Given the description of an element on the screen output the (x, y) to click on. 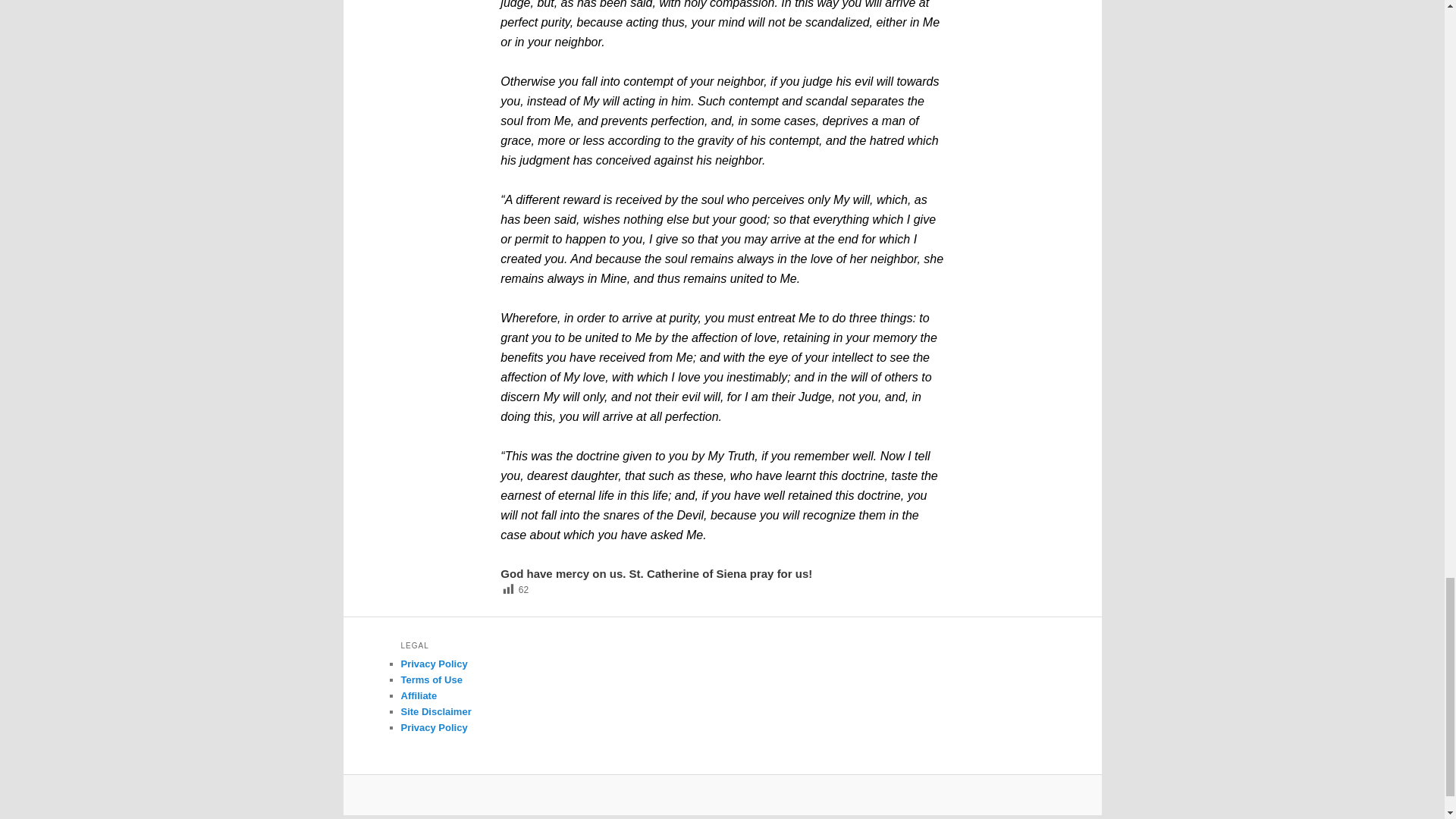
Privacy Policy (433, 727)
Affiliate (418, 695)
Site Disclaimer (435, 711)
Terms of Use (430, 679)
Privacy Policy (433, 663)
